Given the description of an element on the screen output the (x, y) to click on. 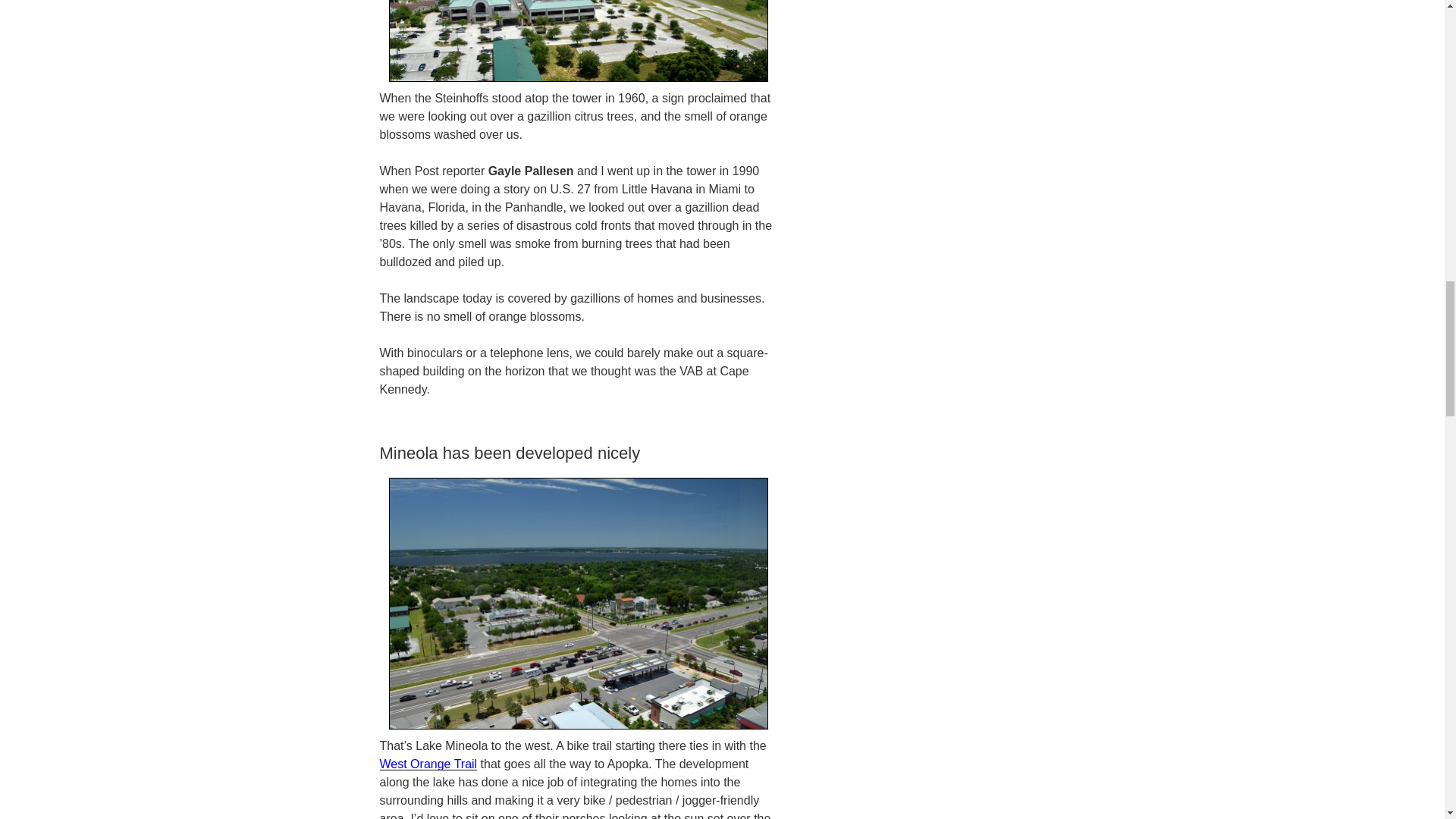
West Orange Trail (427, 763)
West Orange Trail map (427, 763)
